Given the description of an element on the screen output the (x, y) to click on. 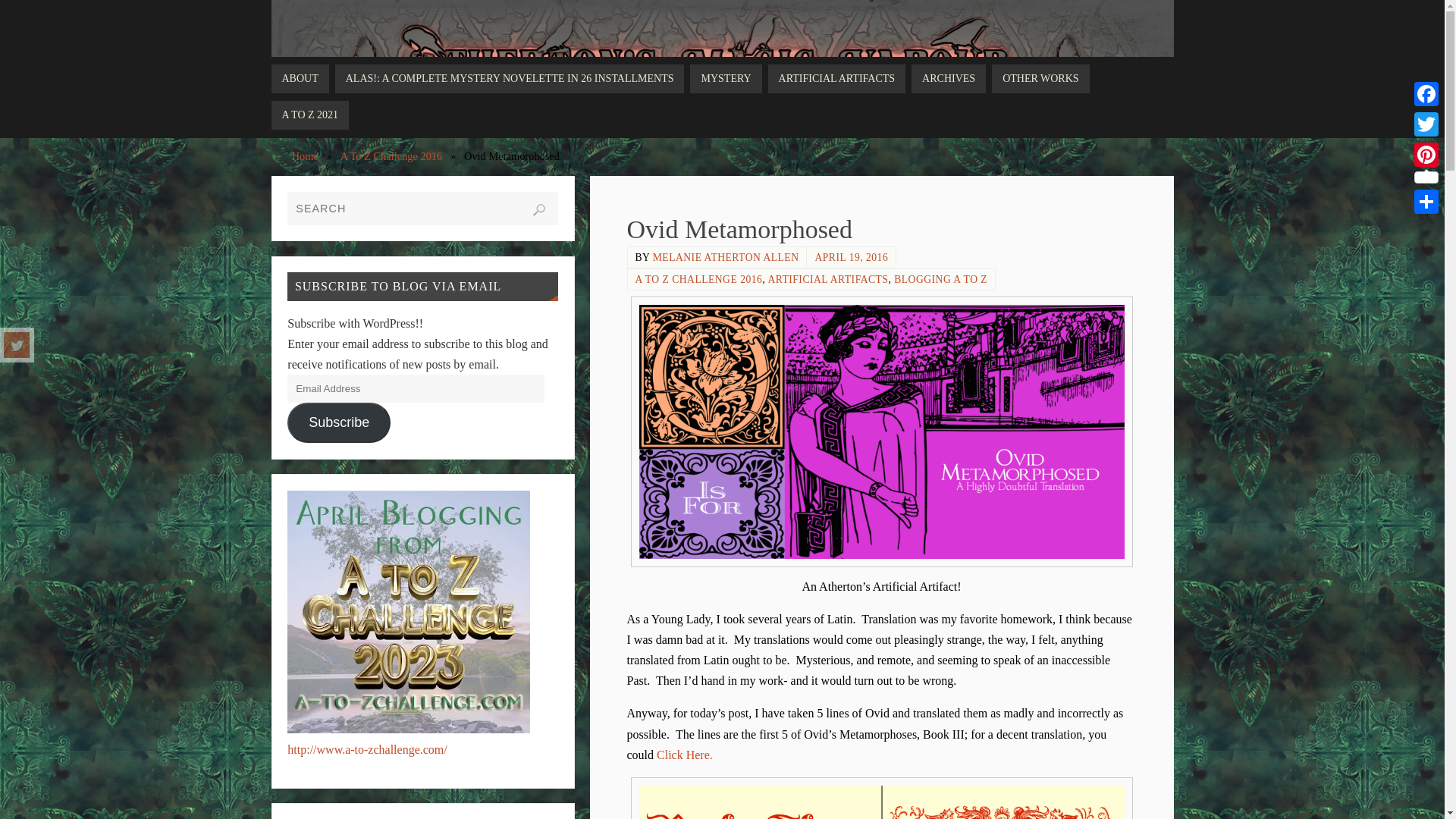
BLOGGING A TO Z (940, 279)
MELANIE ATHERTON ALLEN (725, 256)
A TO Z 2021 (309, 114)
Click Here. (684, 754)
A TO Z CHALLENGE 2016 (698, 279)
MYSTERY (725, 78)
ALAS!: A COMPLETE MYSTERY NOVELETTE IN 26 INSTALLMENTS (509, 78)
View all posts by Melanie Atherton Allen (725, 256)
APRIL 19, 2016 (850, 256)
Twitter (16, 344)
ABOUT (299, 78)
OTHER WORKS (1040, 78)
Home (305, 155)
A To Z Challenge 2016 (391, 155)
